Given the description of an element on the screen output the (x, y) to click on. 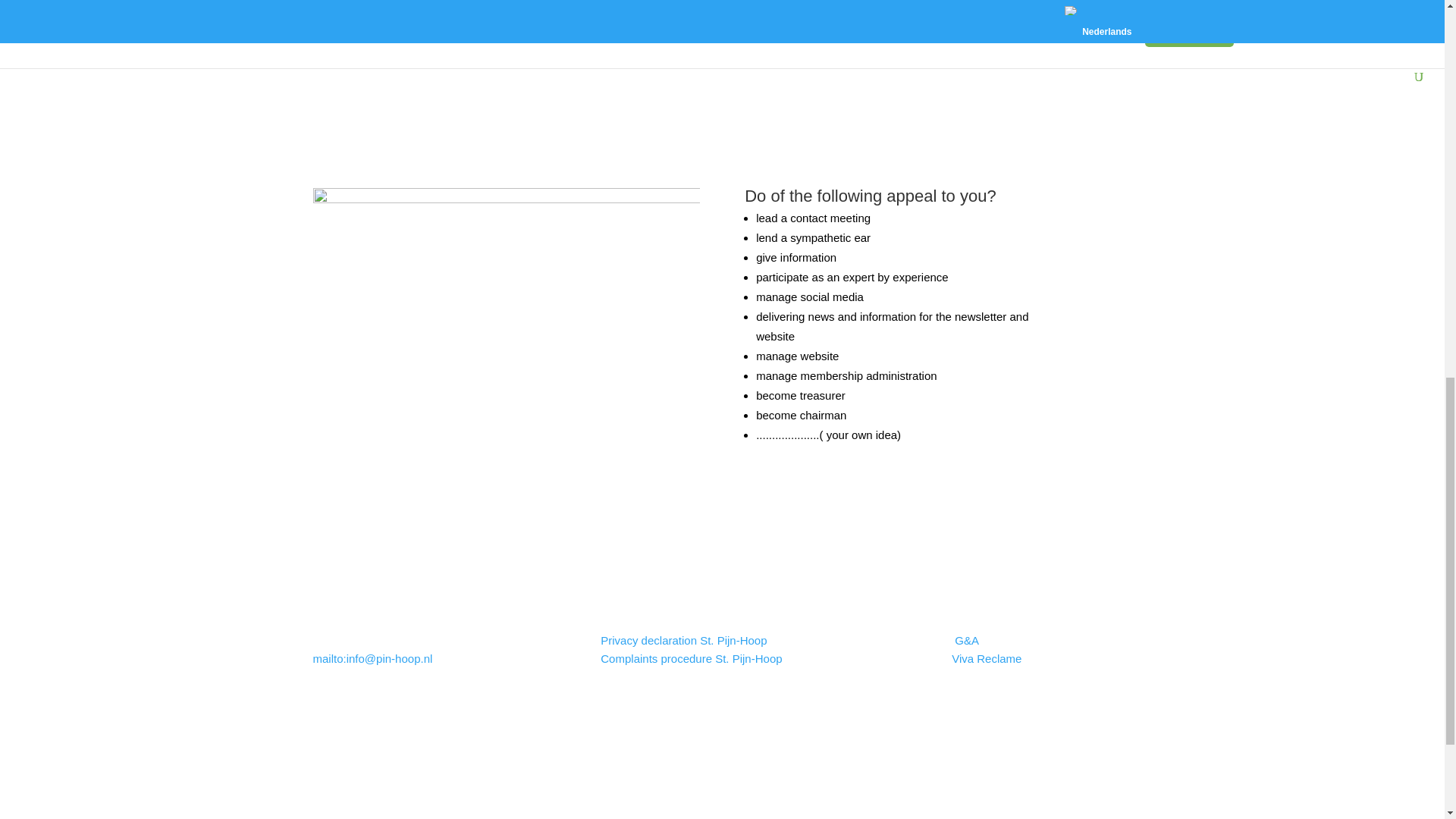
vrijwilligers maken het verschil 2 (505, 323)
Complaints procedure St. Pijn-Hoop (690, 658)
9 (721, 64)
Privacy declaration St. Pijn-Hoop  (684, 640)
redacteur (433, 64)
social media (1009, 64)
